Given the description of an element on the screen output the (x, y) to click on. 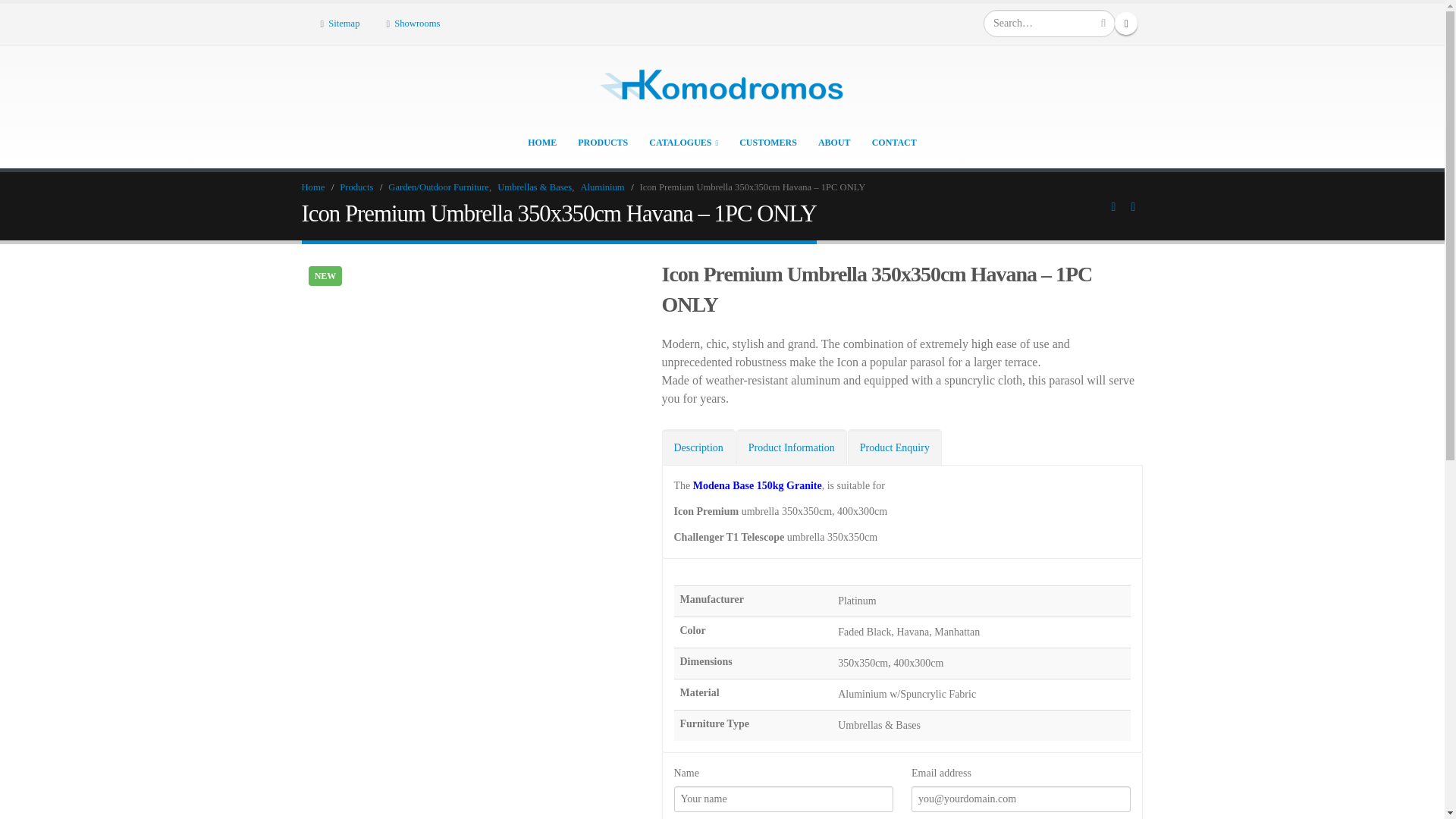
Search (1103, 23)
CATALOGUES (683, 141)
Sitemap (339, 22)
Products (355, 187)
Sitemap (413, 22)
PRODUCTS (602, 141)
CONTACT (893, 141)
Aluminium (601, 187)
Home (312, 187)
CUSTOMERS (767, 141)
Sitemap (339, 22)
Modena Base 150kg Granite (757, 485)
HOME (542, 141)
Showrooms (413, 22)
ABOUT (834, 141)
